Given the description of an element on the screen output the (x, y) to click on. 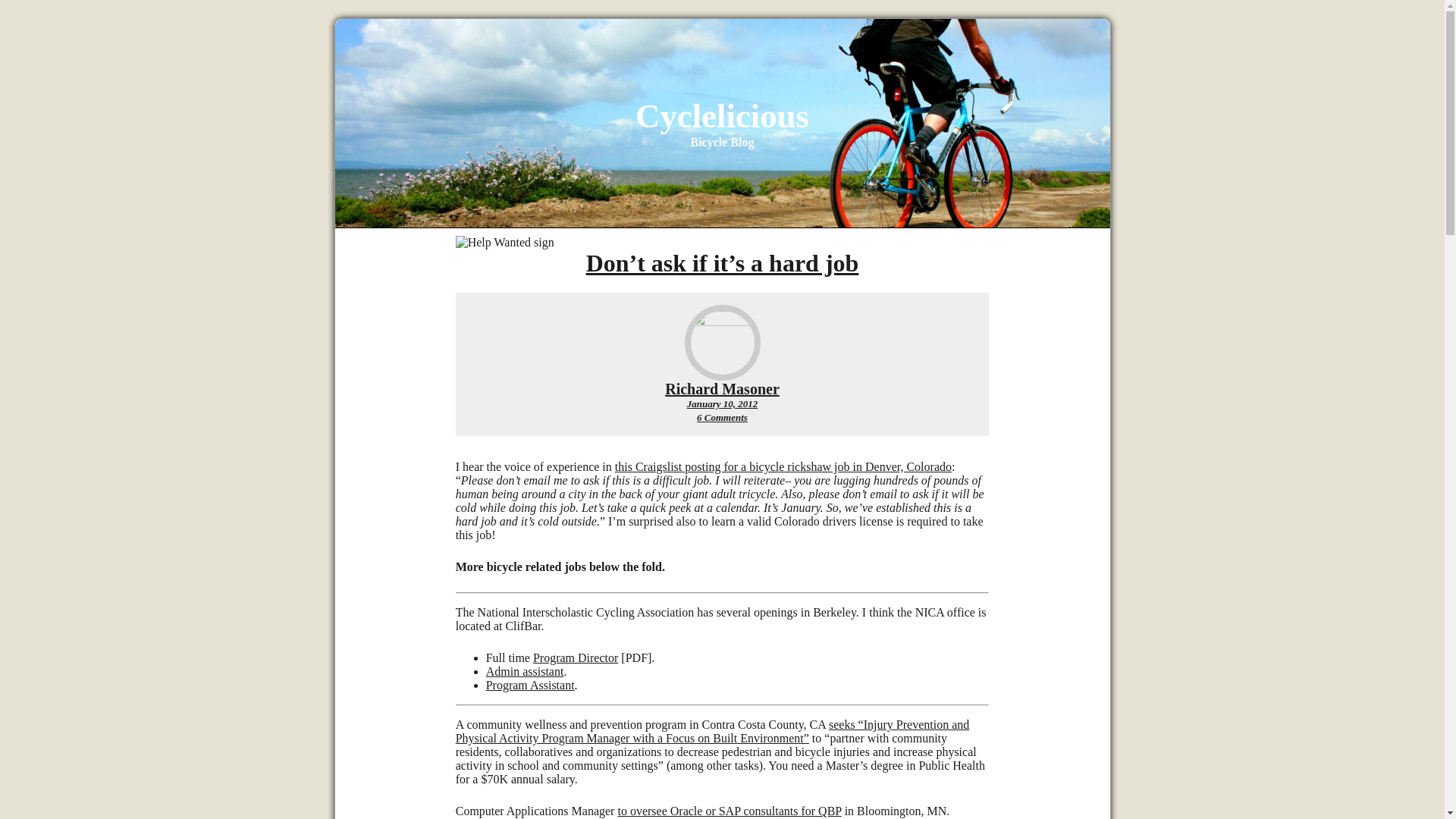
Program Director (574, 657)
Admin assistant (525, 671)
Program Assistant (530, 684)
Cyclelicious (721, 116)
January 10, 2012 (722, 403)
to oversee Oracle or SAP consultants for QBP (729, 810)
12:02 pm (722, 403)
View all posts by Richard Masoner (721, 388)
